Given the description of an element on the screen output the (x, y) to click on. 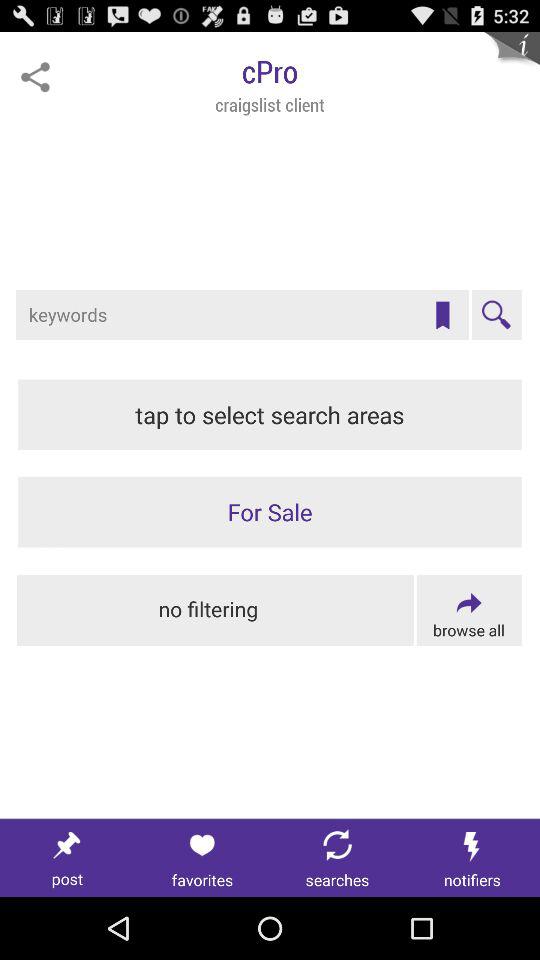
more info about client (511, 59)
